Given the description of an element on the screen output the (x, y) to click on. 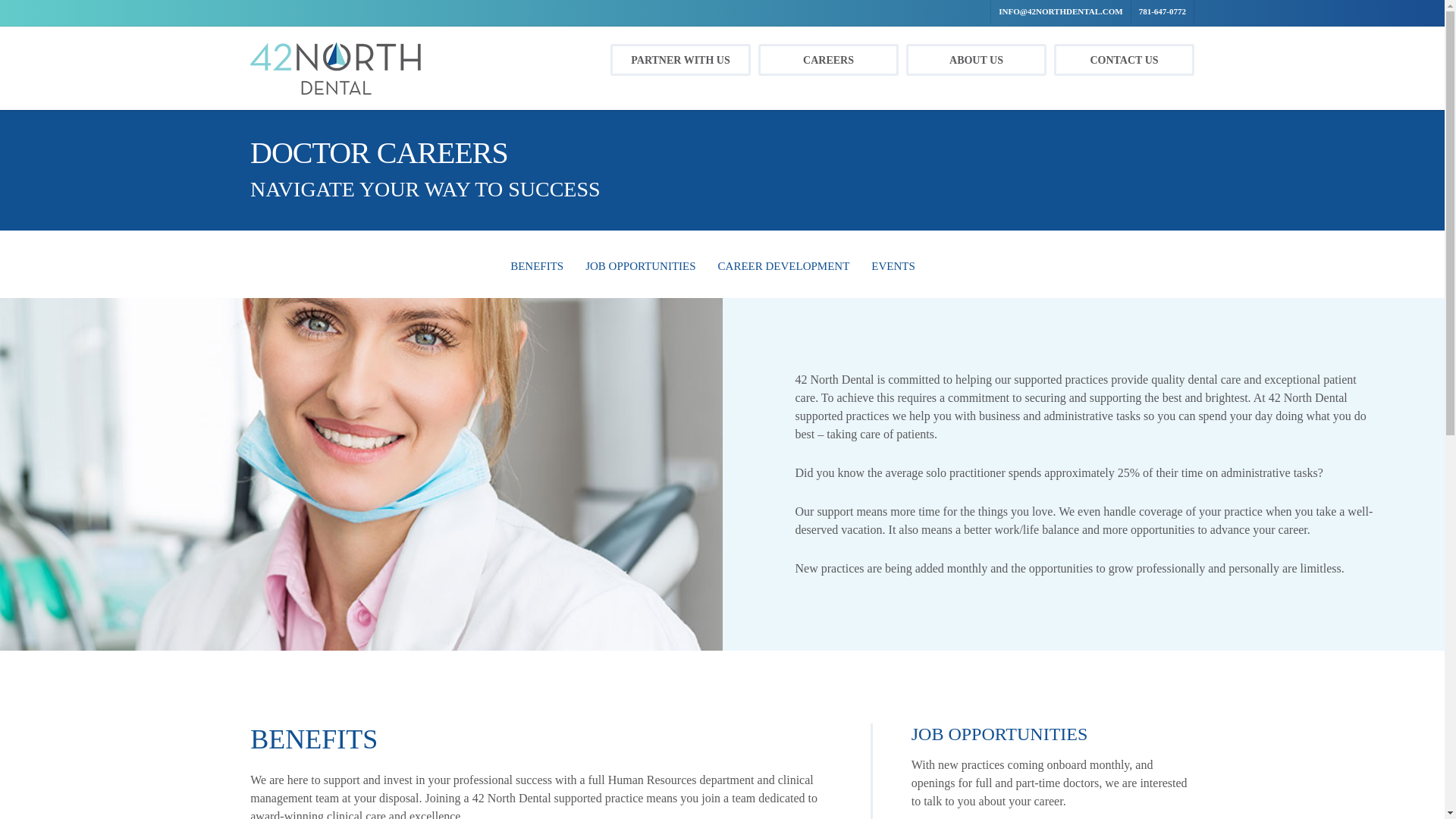
CAREERS (828, 60)
JOB OPPORTUNITIES (640, 265)
BENEFITS (537, 265)
781-647-0772 (1162, 11)
CONTACT US (1123, 60)
EVENTS (892, 265)
PARTNER WITH US (680, 60)
ABOUT US (975, 60)
CAREER DEVELOPMENT (783, 265)
